Given the description of an element on the screen output the (x, y) to click on. 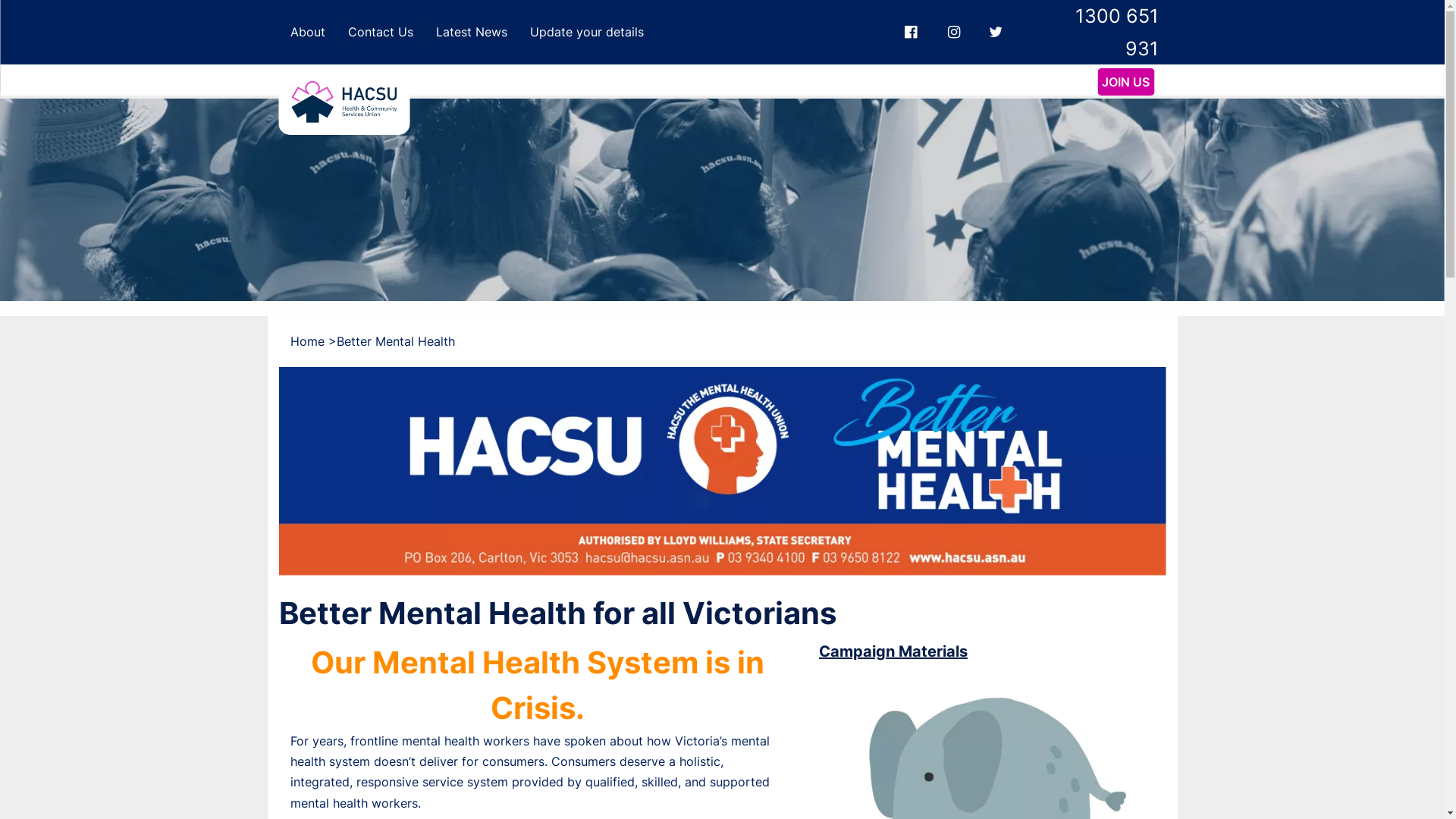
Contact Us Element type: text (380, 31)
Update your details Element type: text (586, 31)
1300 651 931 Element type: text (1097, 32)
About Element type: text (307, 31)
JOIN US Element type: text (1125, 81)
Home > Element type: text (312, 340)
Latest News Element type: text (471, 31)
